Given the description of an element on the screen output the (x, y) to click on. 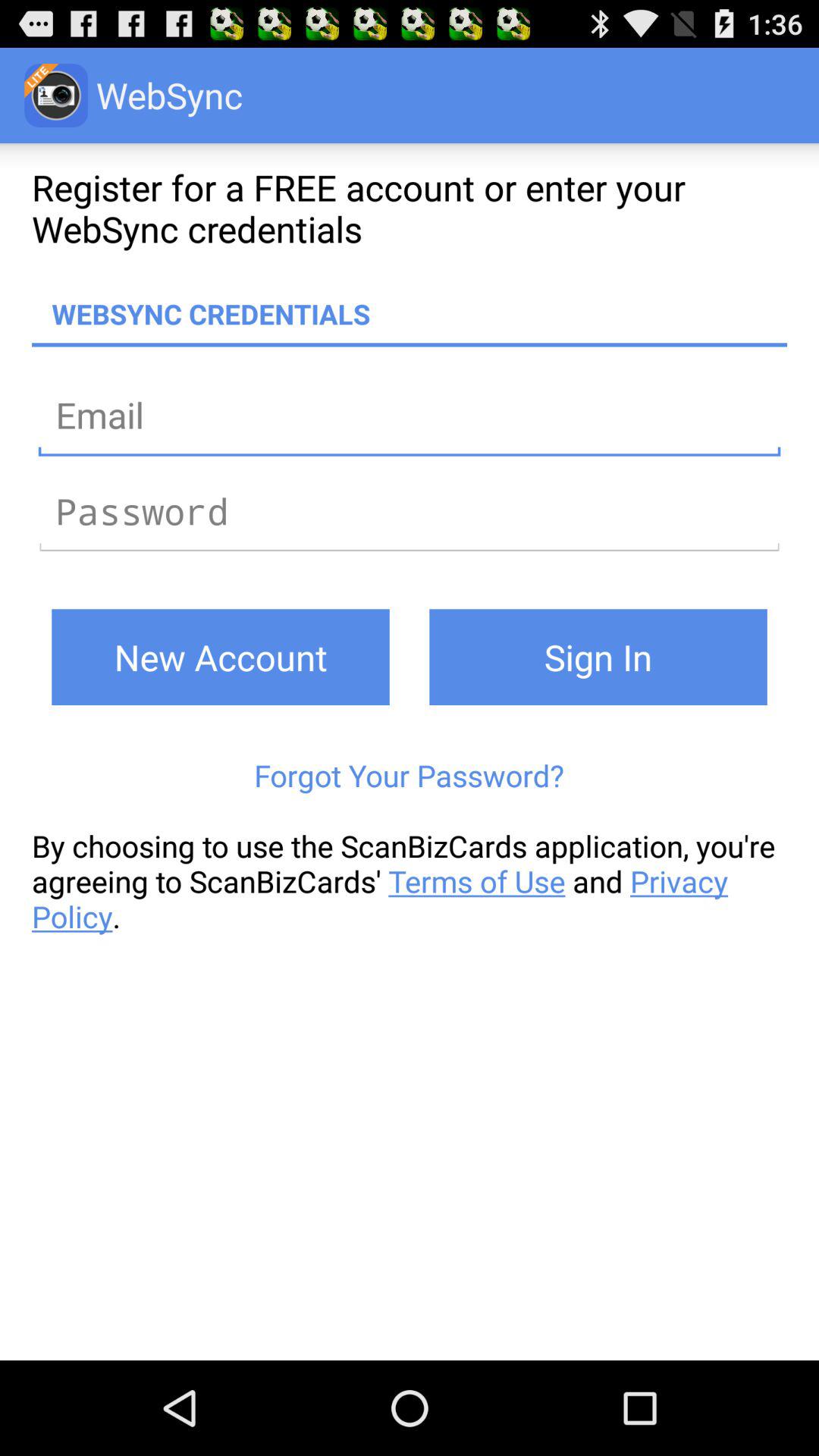
swipe to the forgot your password? (409, 775)
